Given the description of an element on the screen output the (x, y) to click on. 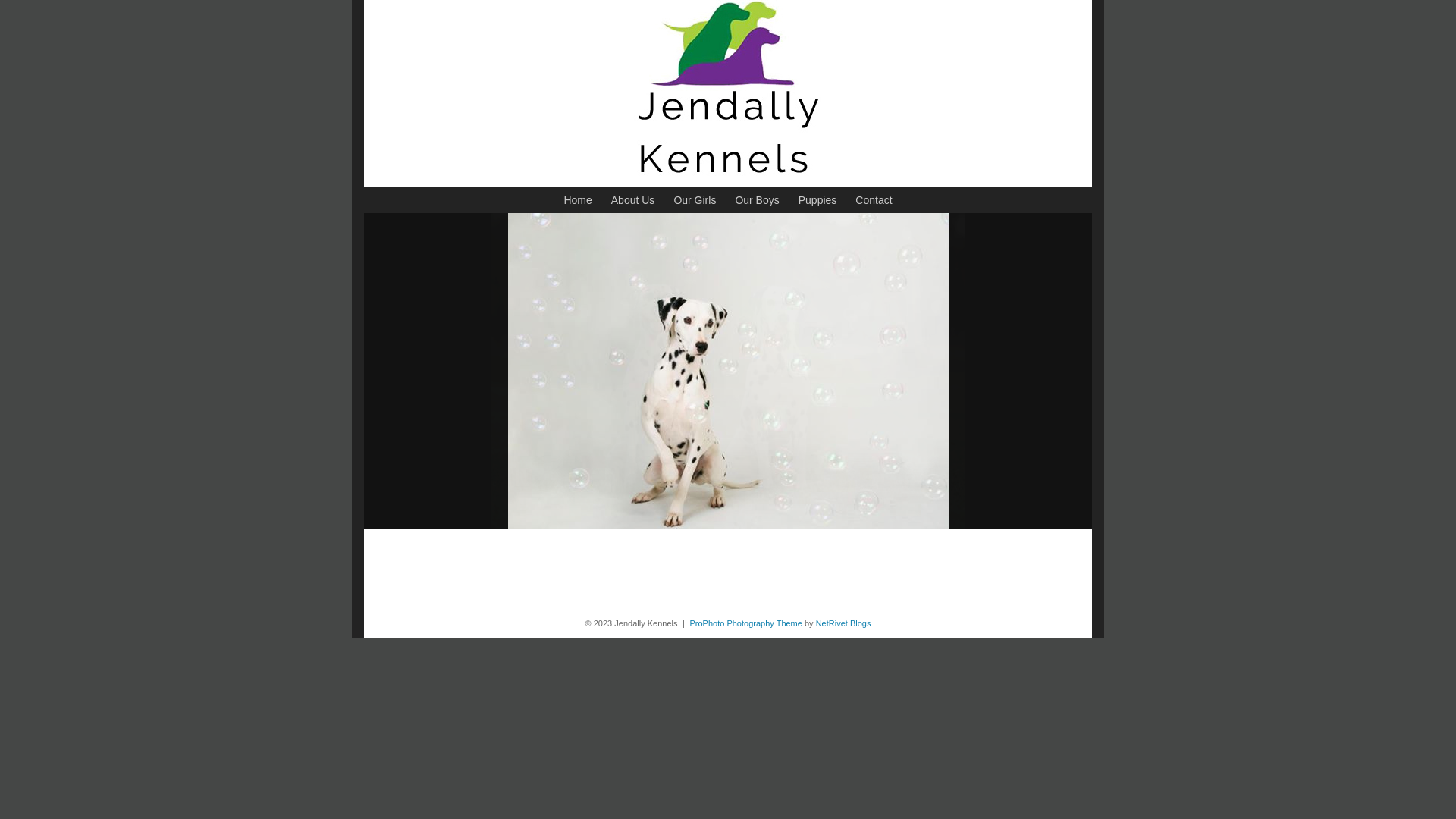
NetRivet Blogs Element type: text (843, 622)
Home Element type: text (577, 199)
Contact Element type: text (873, 199)
Puppies Element type: text (817, 199)
Our Boys Element type: text (756, 199)
Jendally Kennels Element type: hover (728, 183)
Our Girls Element type: text (694, 199)
About Us Element type: text (633, 199)
ProPhoto Photography Theme Element type: text (746, 622)
